Given the description of an element on the screen output the (x, y) to click on. 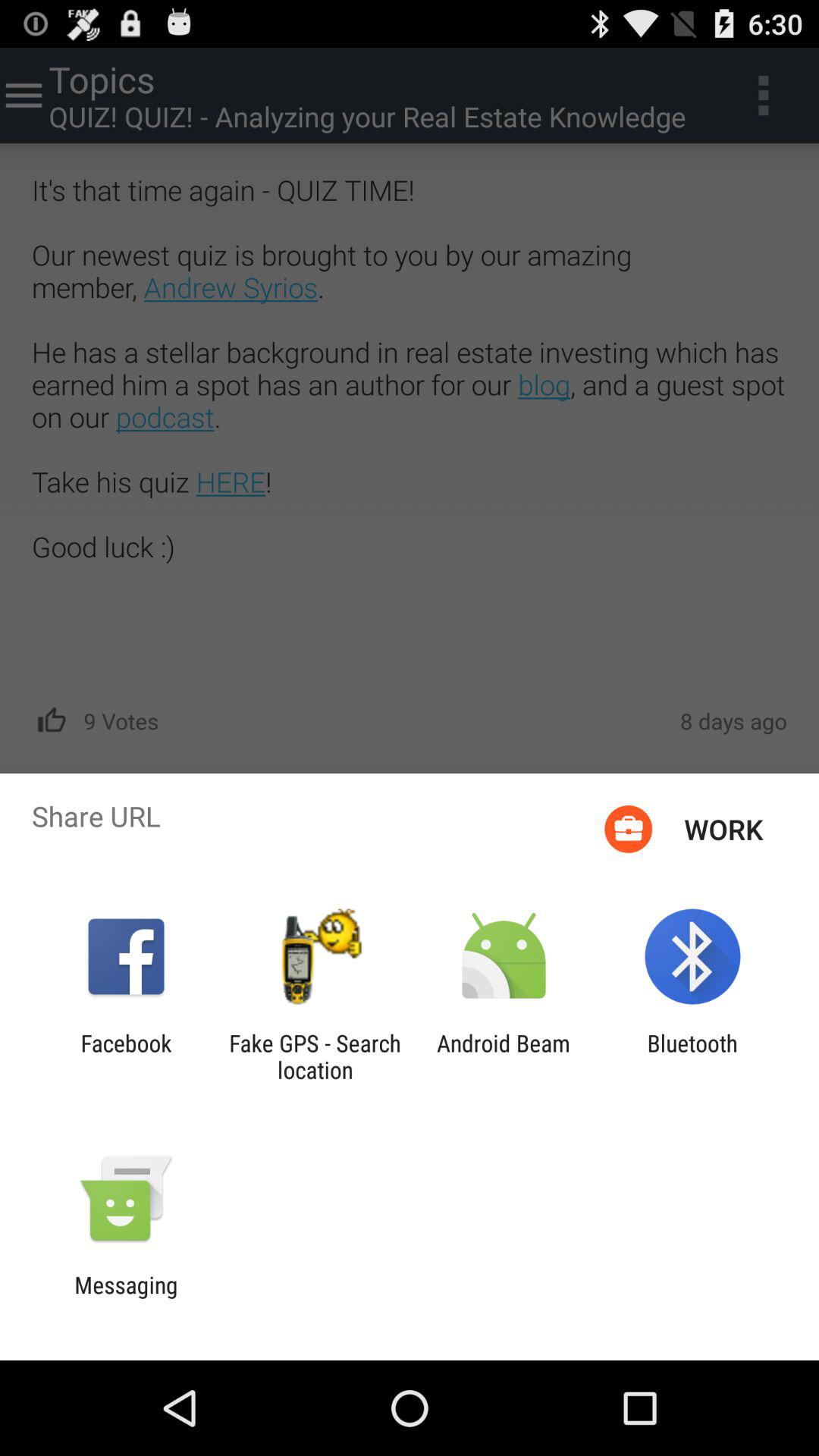
open the icon to the right of the android beam icon (692, 1056)
